Given the description of an element on the screen output the (x, y) to click on. 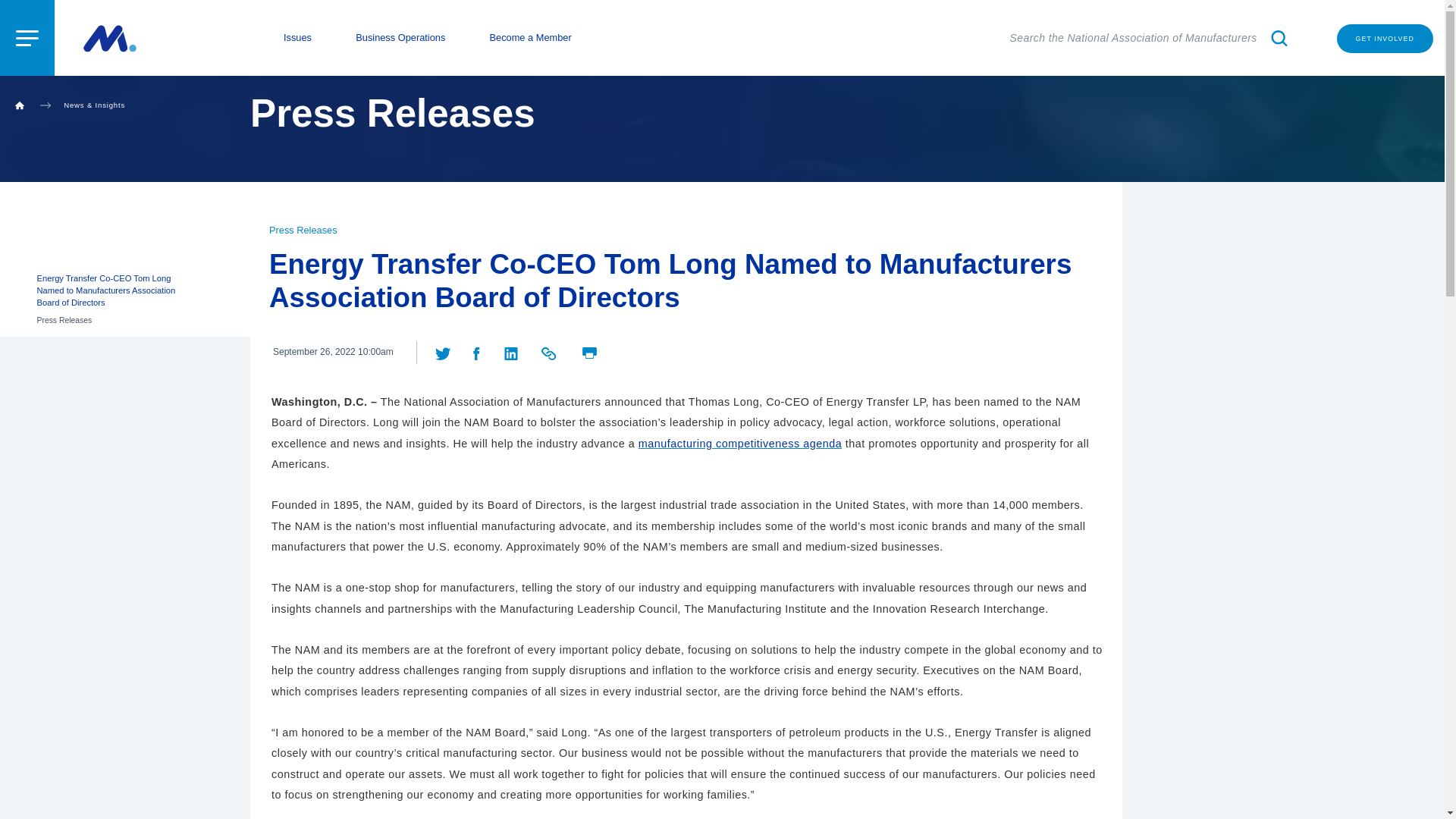
Search the National Association of Manufacturers (1150, 37)
Become a Member (530, 37)
manufacturing competitiveness agenda (740, 443)
Share on Facebook (476, 351)
GET INVOLVED (1384, 39)
Business Operations (400, 37)
Monday, September 26th at 10:00am (333, 351)
Press Releases (303, 229)
Share on LinkedIn (512, 351)
